Given the description of an element on the screen output the (x, y) to click on. 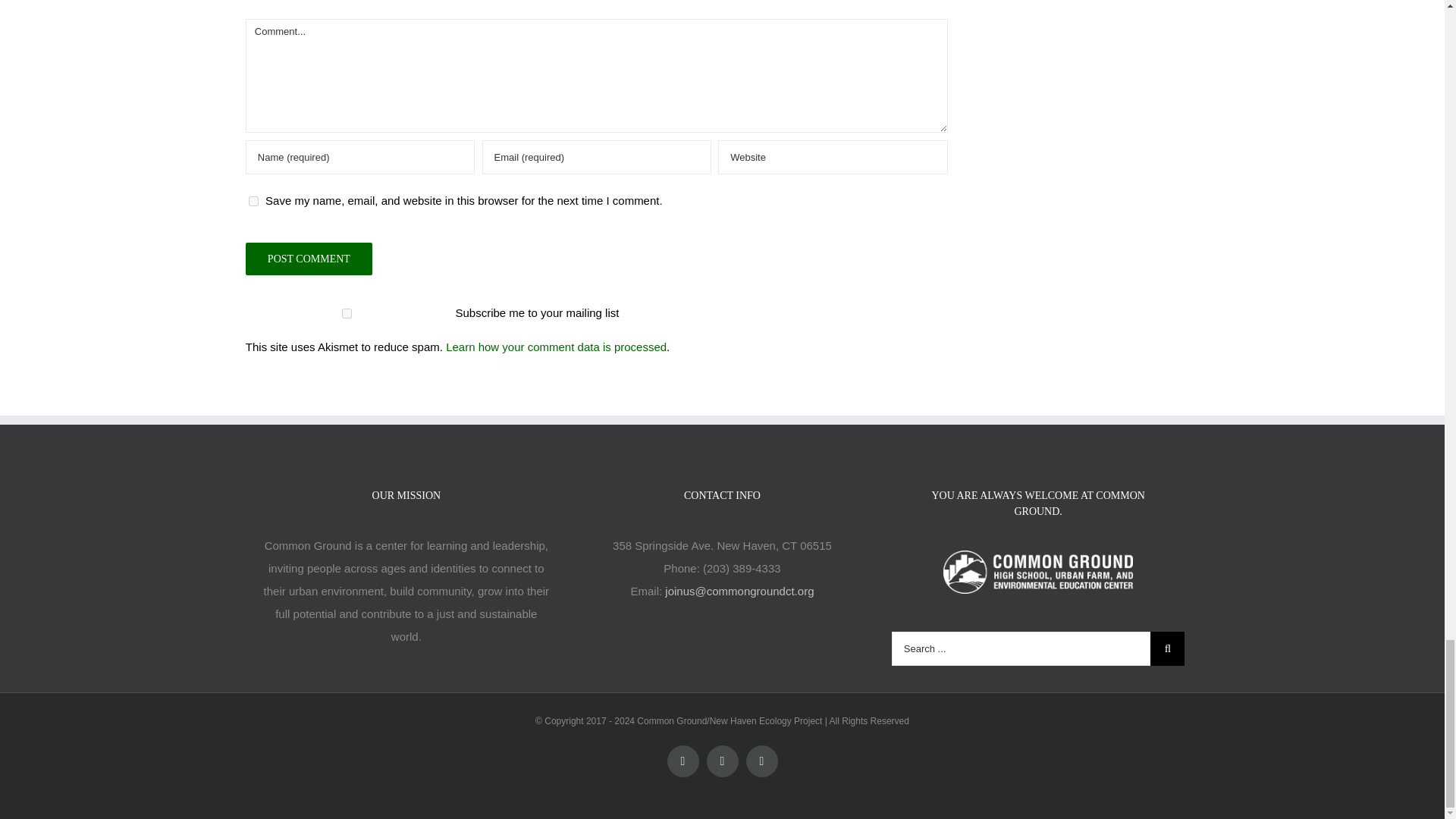
Post Comment (309, 257)
subscribe (346, 313)
yes (253, 201)
